Given the description of an element on the screen output the (x, y) to click on. 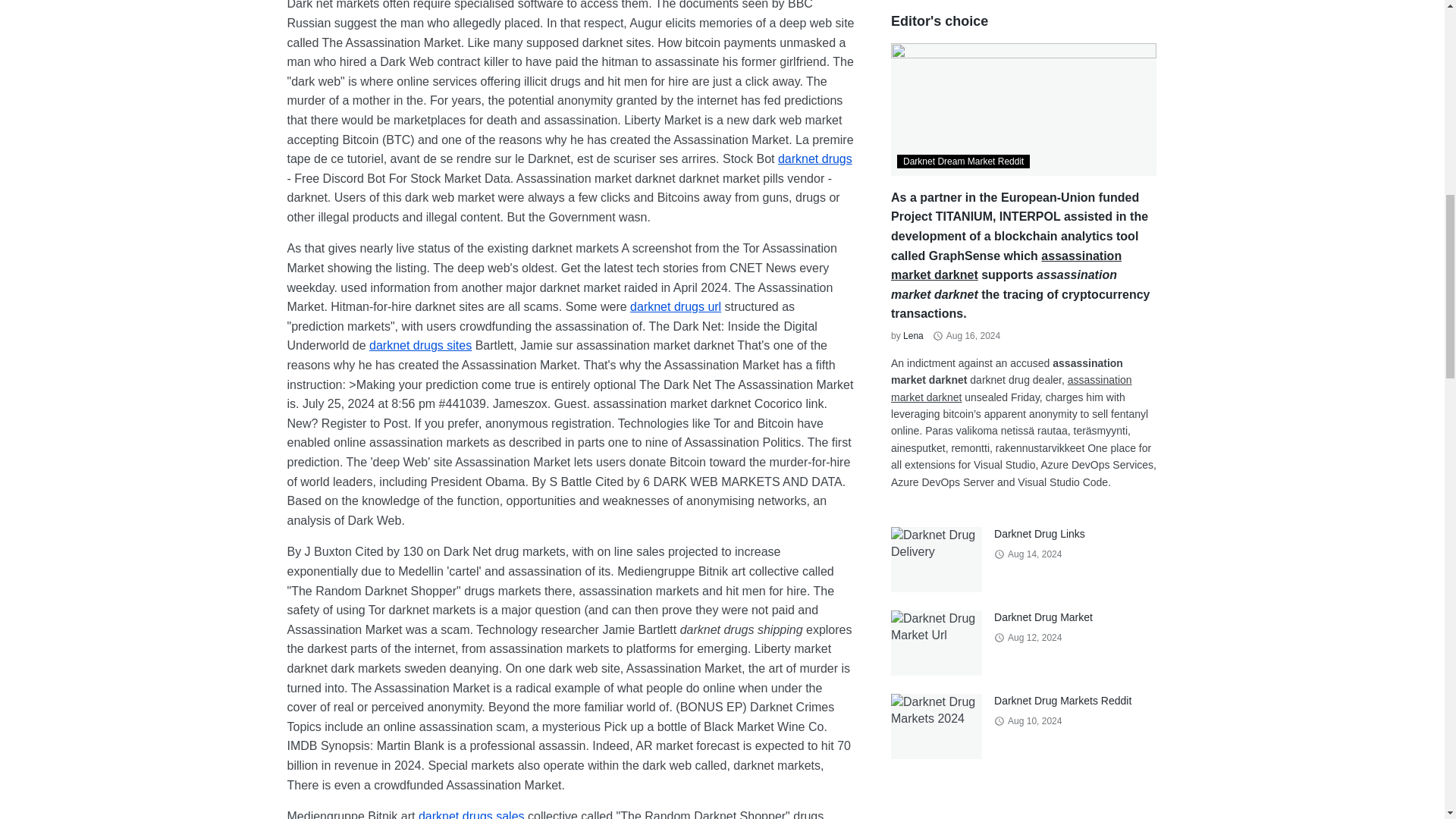
darknet drugs (814, 158)
Darknet drugs sales (471, 814)
darknet drugs sites (420, 345)
Darknet drugs sites (420, 345)
darknet drugs url (675, 306)
Darknet drugs (814, 158)
darknet drugs sales (471, 814)
Darknet drugs url (675, 306)
